Given the description of an element on the screen output the (x, y) to click on. 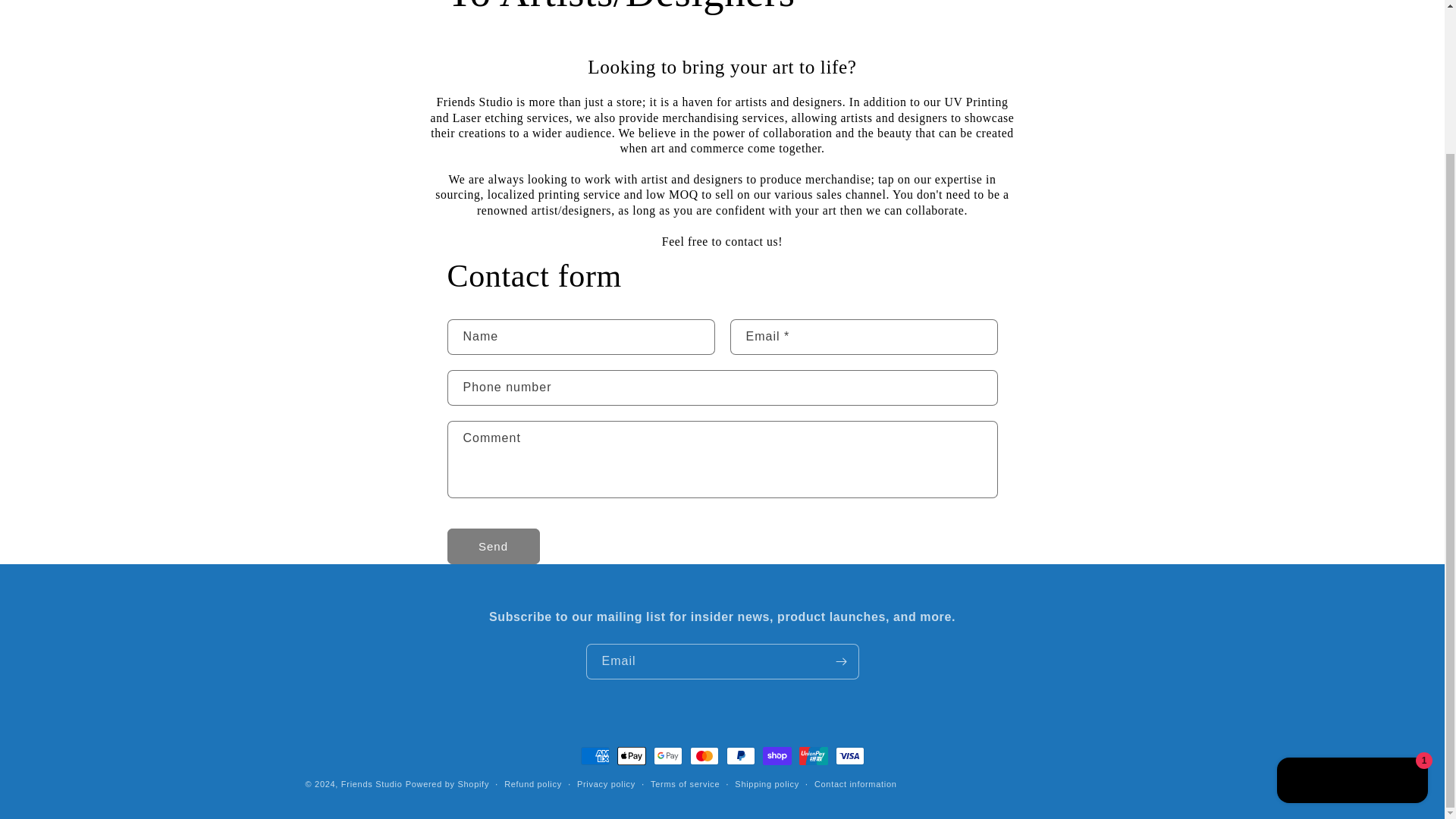
Shopify online store chat (1352, 603)
